Given the description of an element on the screen output the (x, y) to click on. 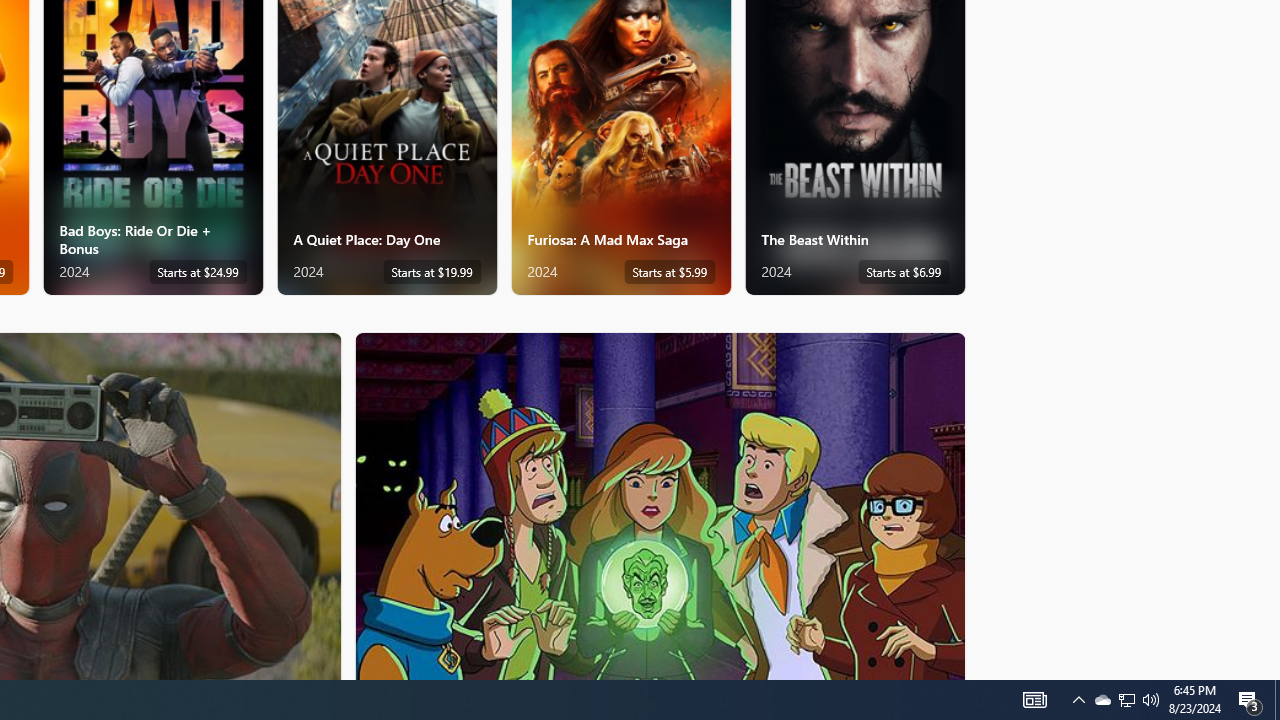
Family (660, 505)
AutomationID: PosterImage (658, 505)
